Given the description of an element on the screen output the (x, y) to click on. 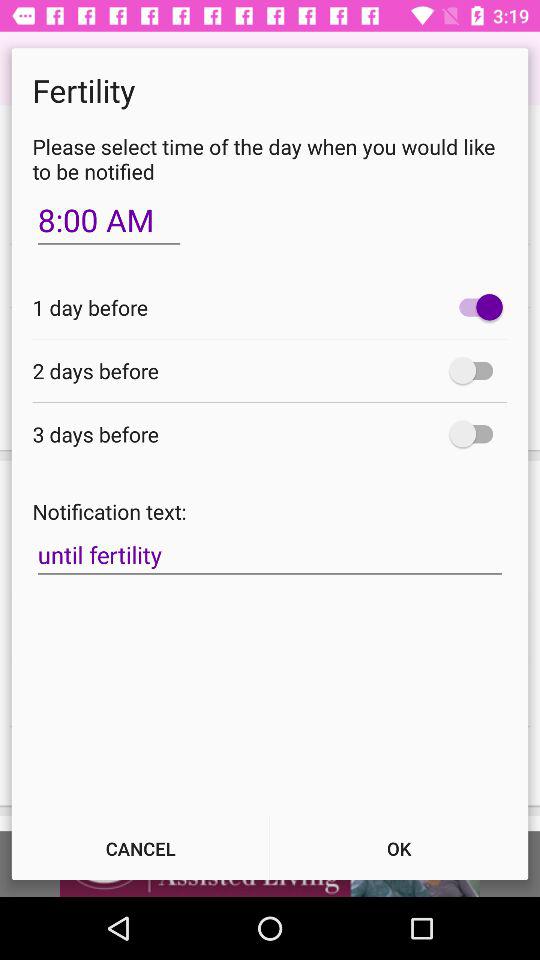
turn on one-day before notification (476, 307)
